Given the description of an element on the screen output the (x, y) to click on. 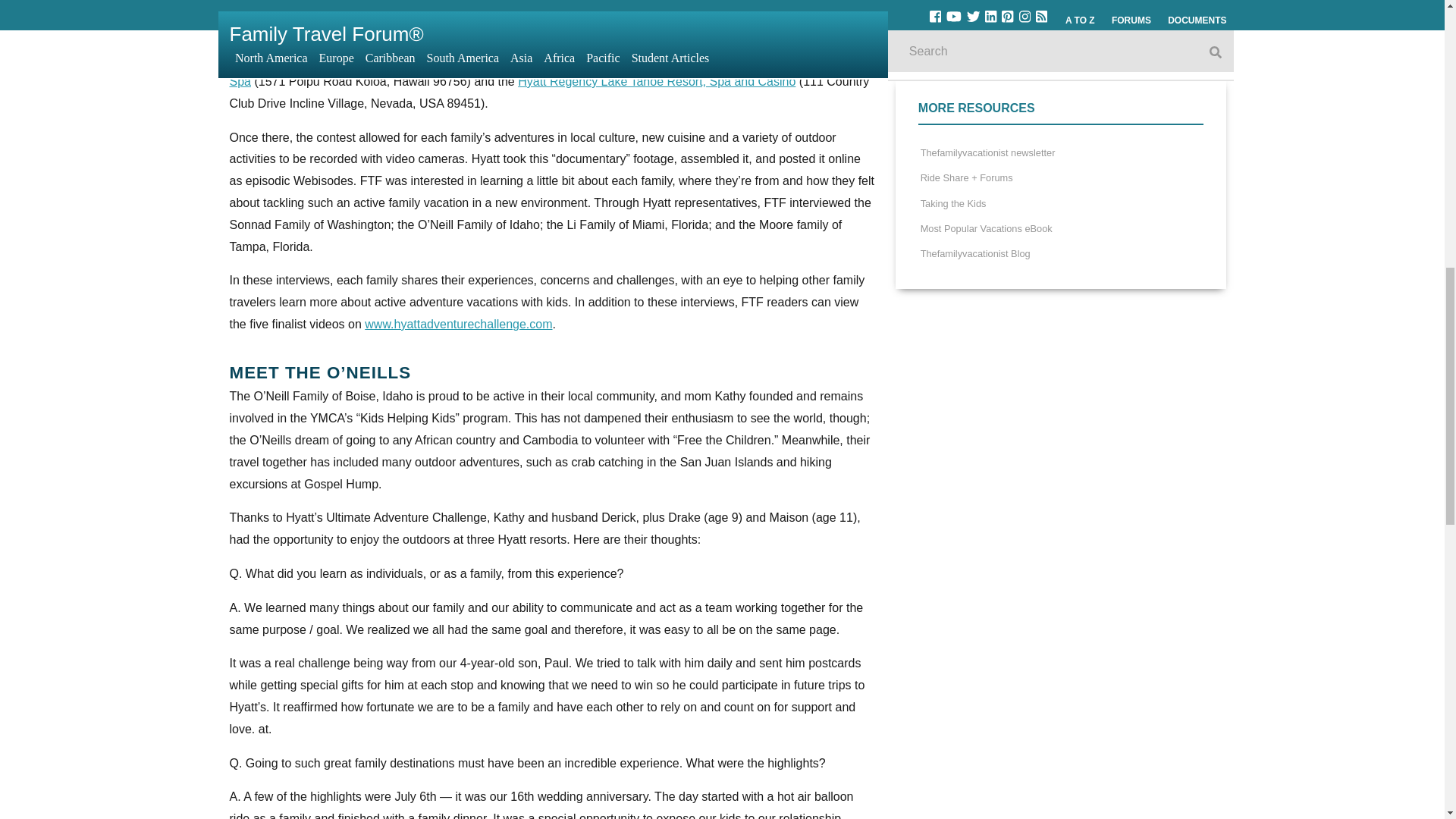
www.hyattadventurechallenge.com (458, 323)
Hyatt Regency Lake Tahoe Resort, Spa and Casino (656, 81)
Grand Hyatt Kauai Resort and Spa (541, 70)
